Given the description of an element on the screen output the (x, y) to click on. 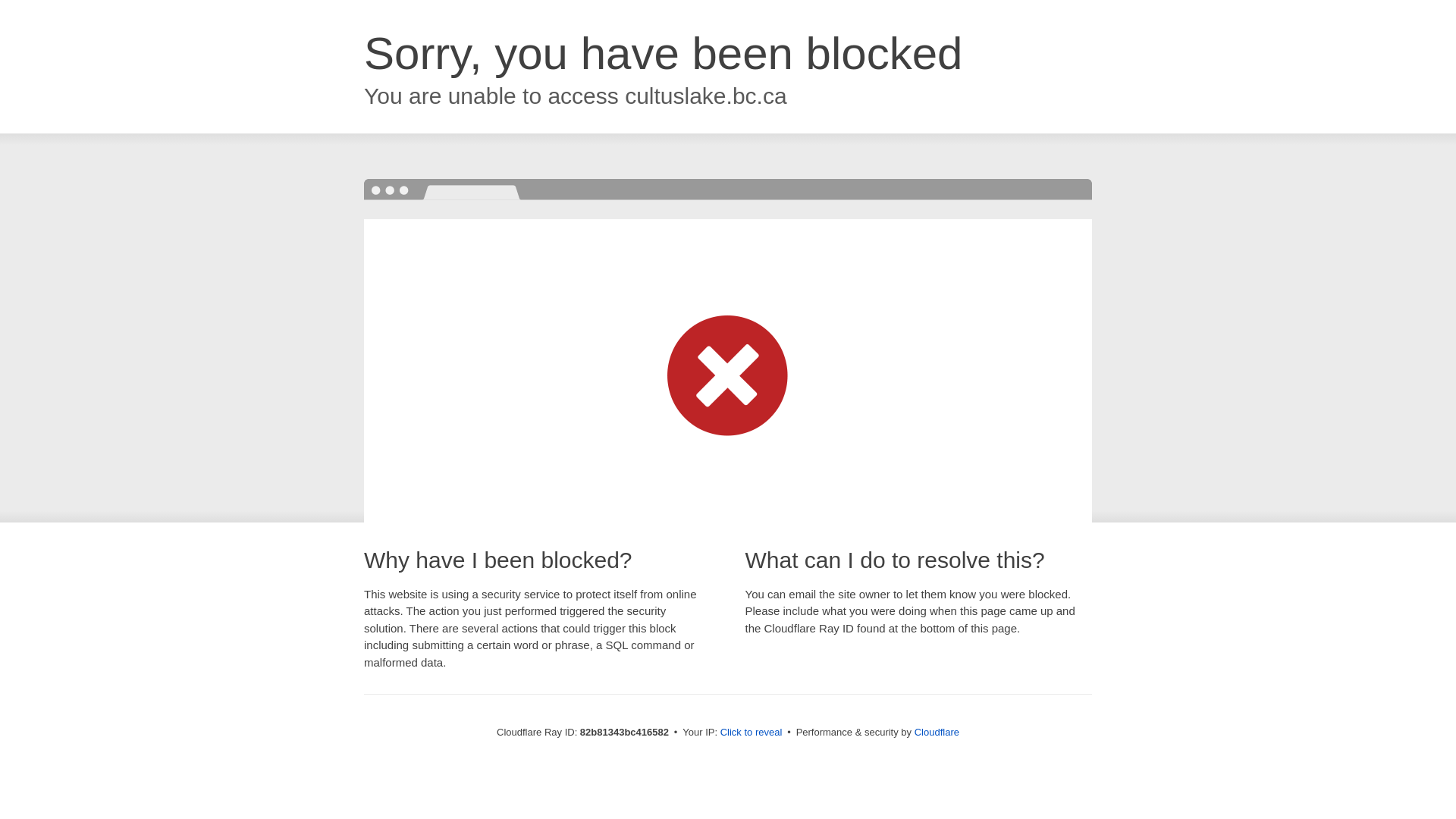
Click to reveal Element type: text (751, 732)
Cloudflare Element type: text (936, 731)
